Given the description of an element on the screen output the (x, y) to click on. 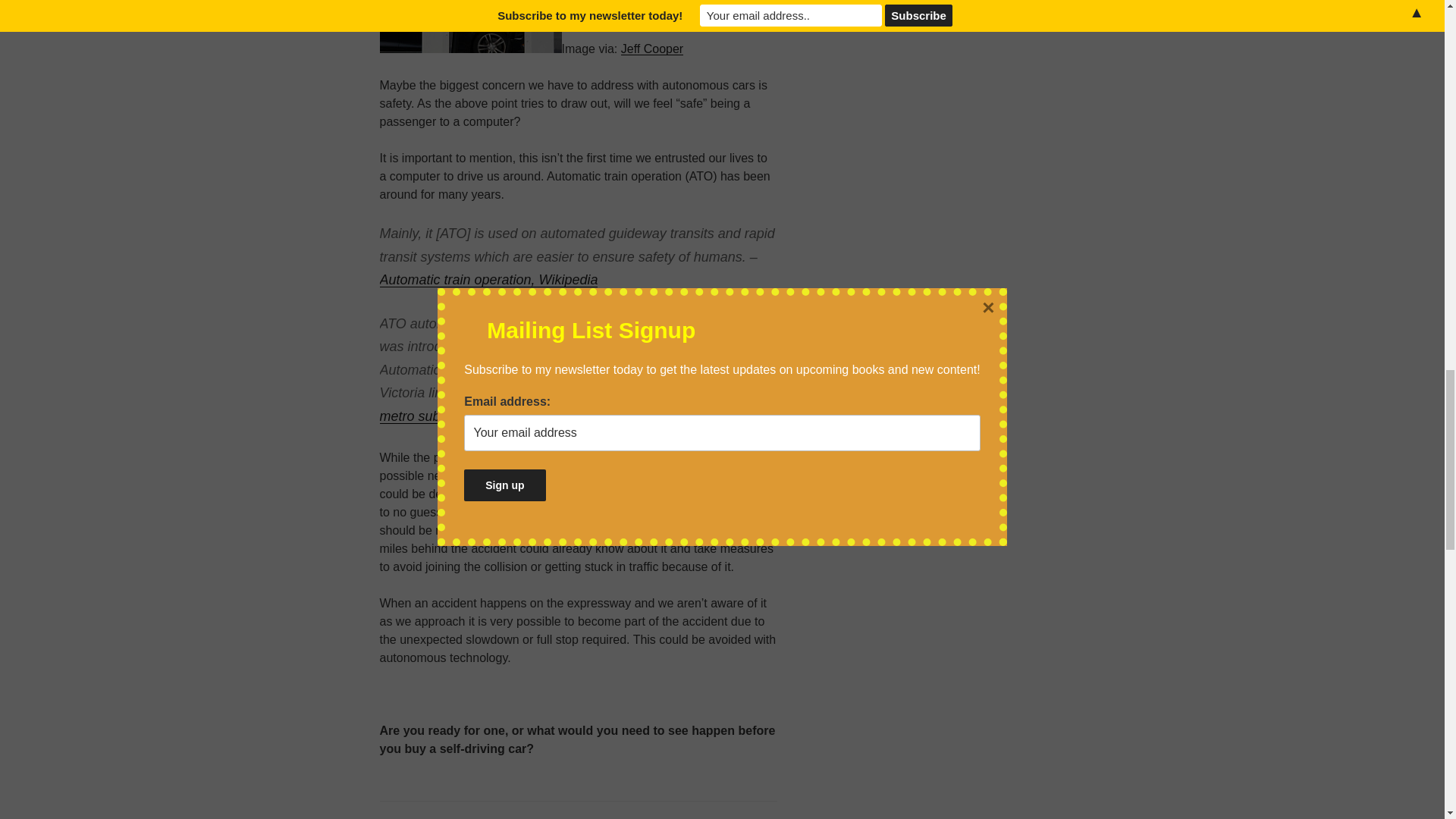
List of automated urban metro subway systems, Wikipedia (563, 404)
Jeff Cooper (651, 48)
Automatic train operation, Wikipedia (487, 279)
